Given the description of an element on the screen output the (x, y) to click on. 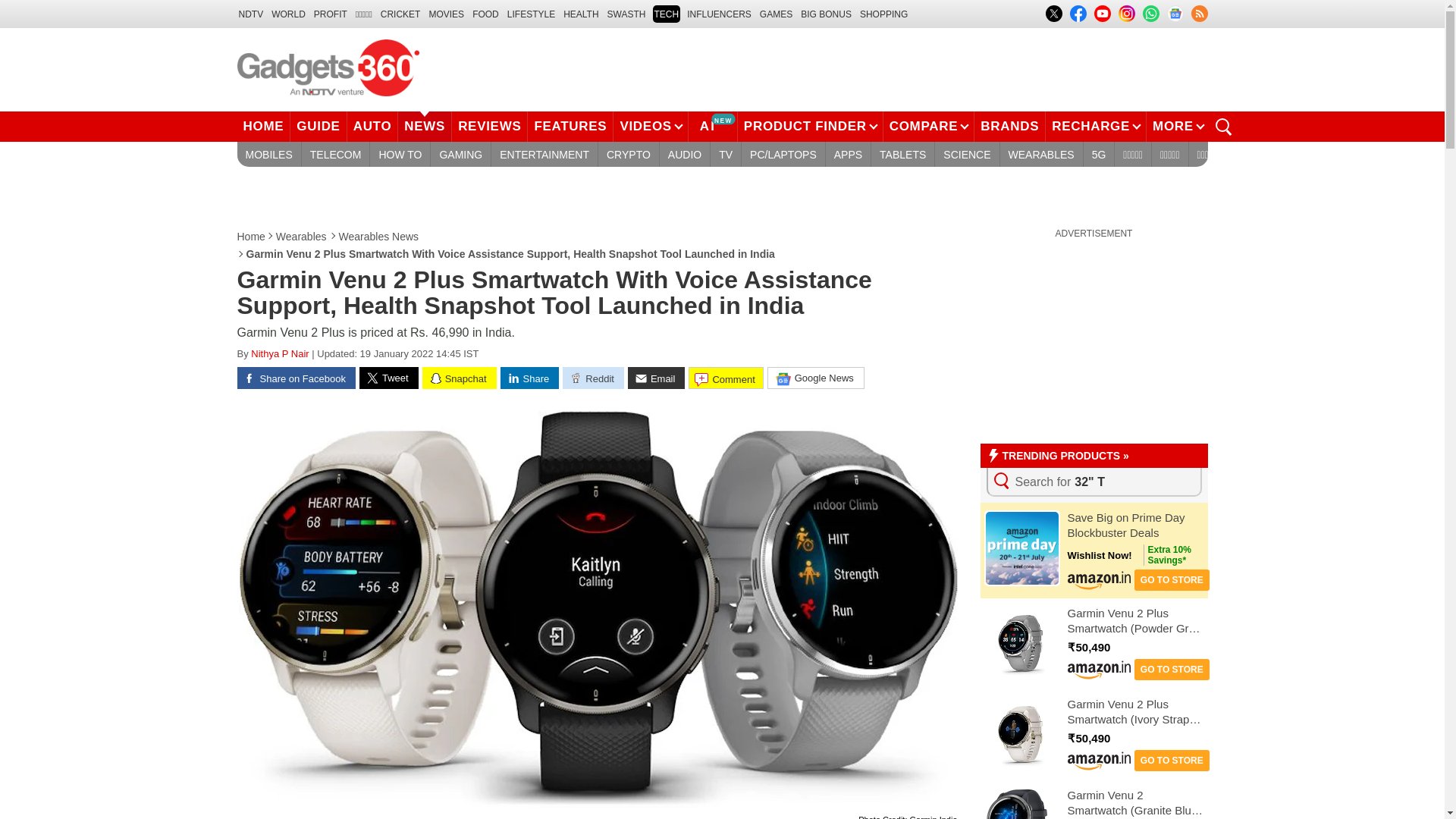
FOOD (485, 13)
SWASTH (626, 13)
Home (250, 236)
Gadgets 360 (327, 67)
Big Bonus (826, 13)
Profit (331, 13)
LIFESTYLE (530, 13)
FOOD (485, 13)
TECH (665, 13)
Cricket (400, 13)
REVIEWS (489, 126)
SHOPPING (883, 13)
MOVIES (445, 13)
Influencers (718, 13)
FEATURES (569, 126)
